Given the description of an element on the screen output the (x, y) to click on. 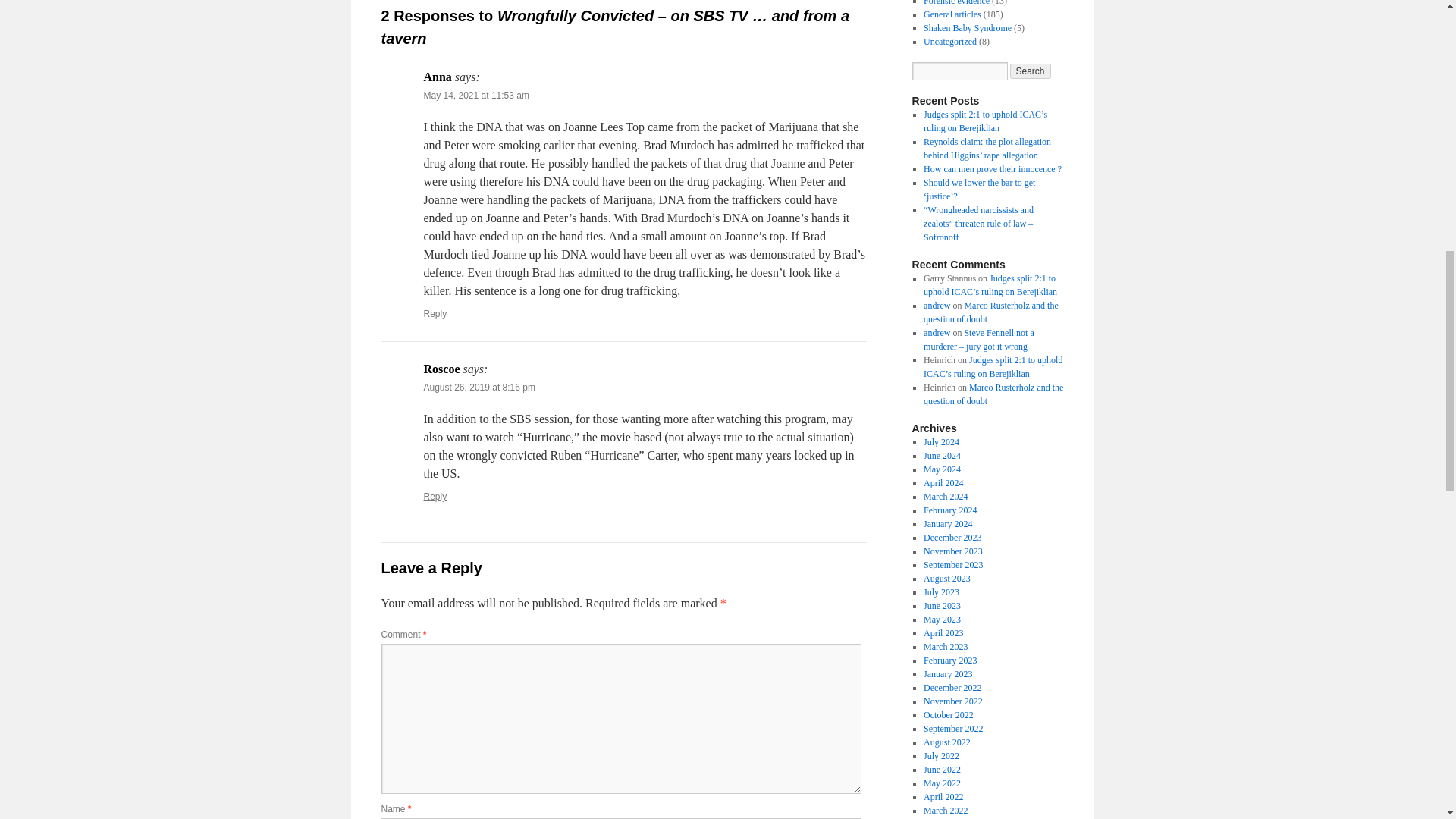
Reply (434, 313)
Reply (434, 496)
May 14, 2021 at 11:53 am (475, 95)
August 26, 2019 at 8:16 pm (478, 387)
Search (1030, 70)
